Given the description of an element on the screen output the (x, y) to click on. 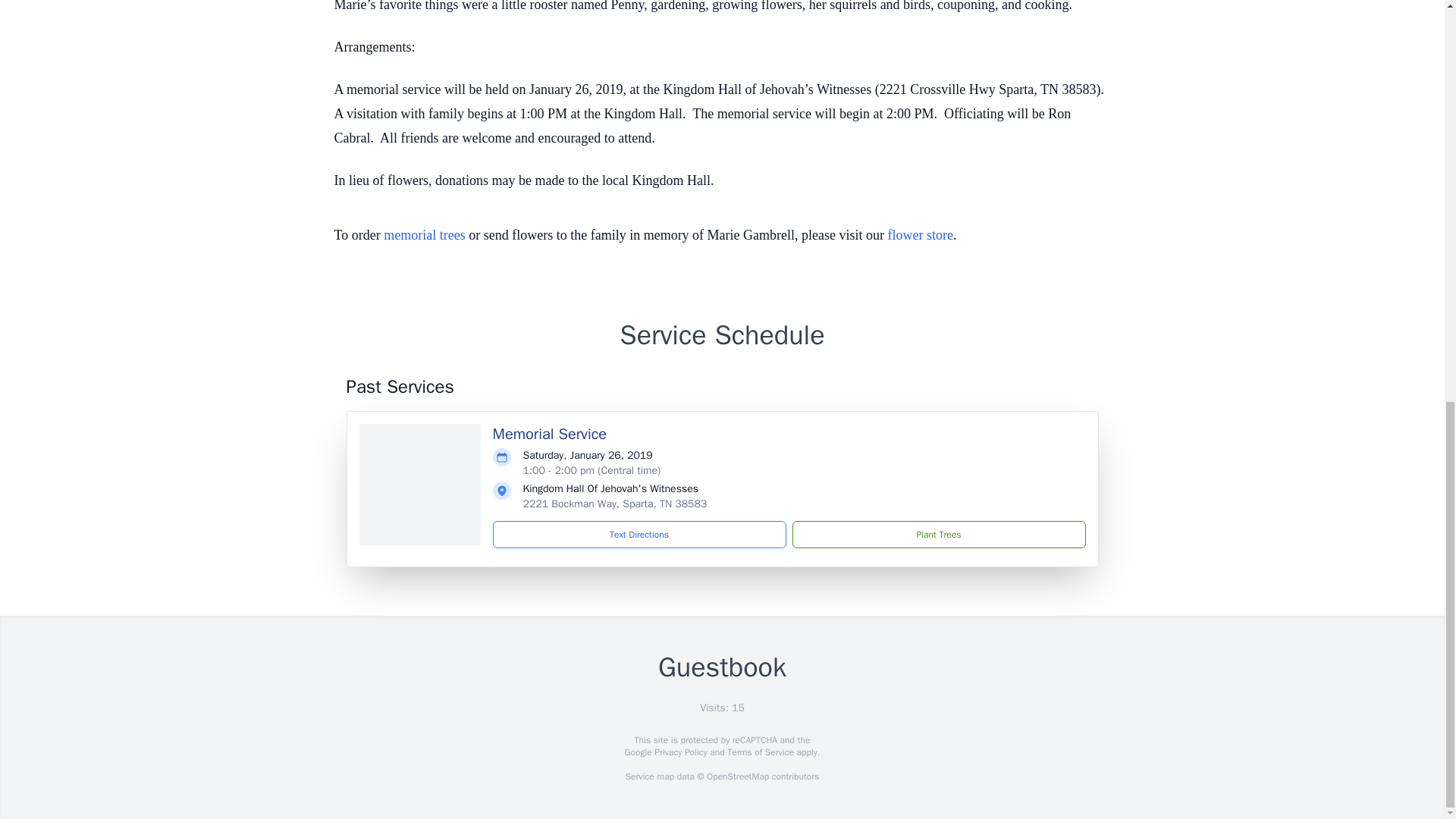
memorial trees (424, 234)
Terms of Service (759, 752)
Plant Trees (938, 533)
Privacy Policy (679, 752)
2221 Bockman Way, Sparta, TN 38583 (614, 503)
flower store (920, 234)
OpenStreetMap (737, 776)
Text Directions (639, 533)
